Given the description of an element on the screen output the (x, y) to click on. 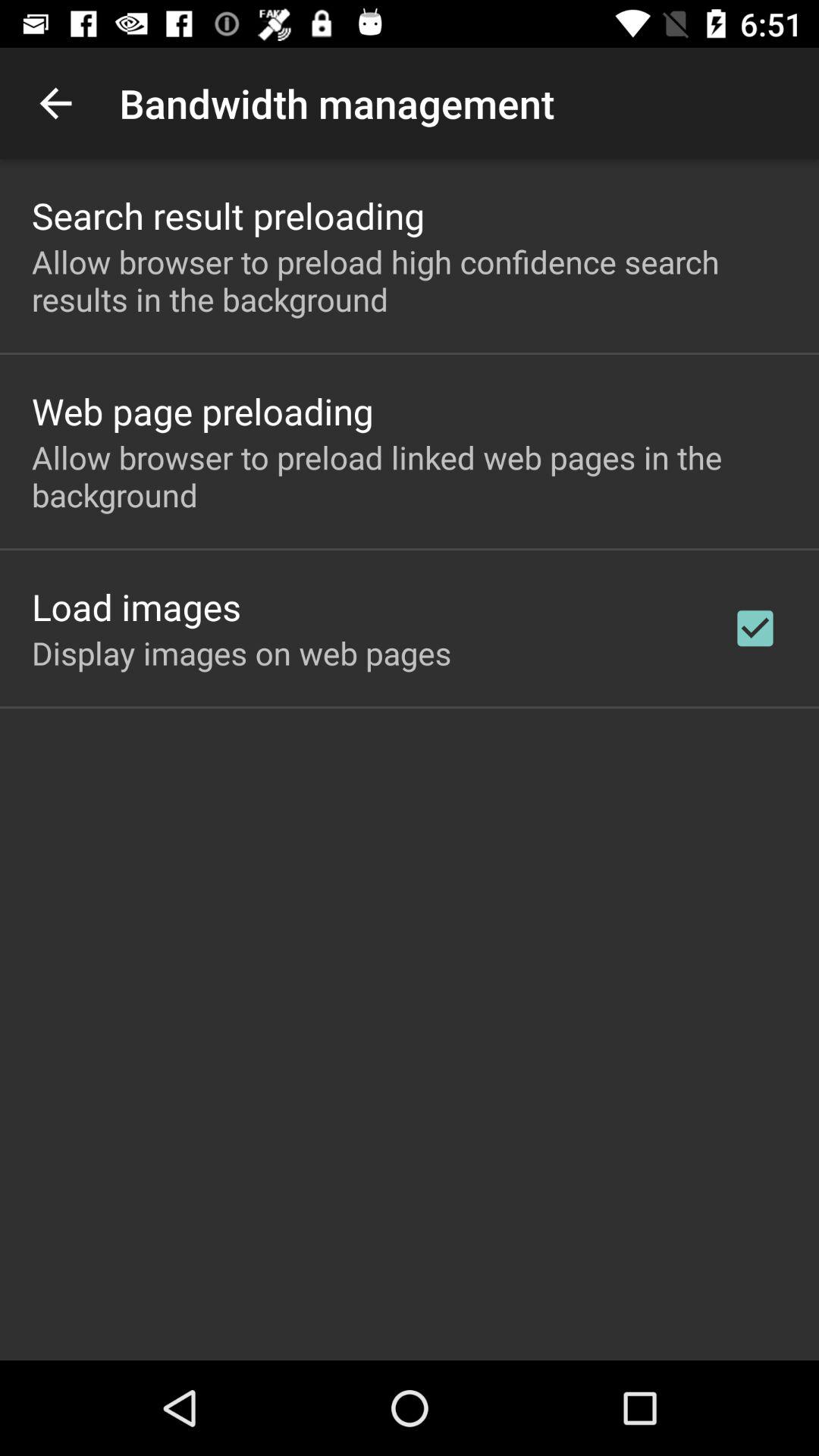
flip until display images on app (241, 652)
